Given the description of an element on the screen output the (x, y) to click on. 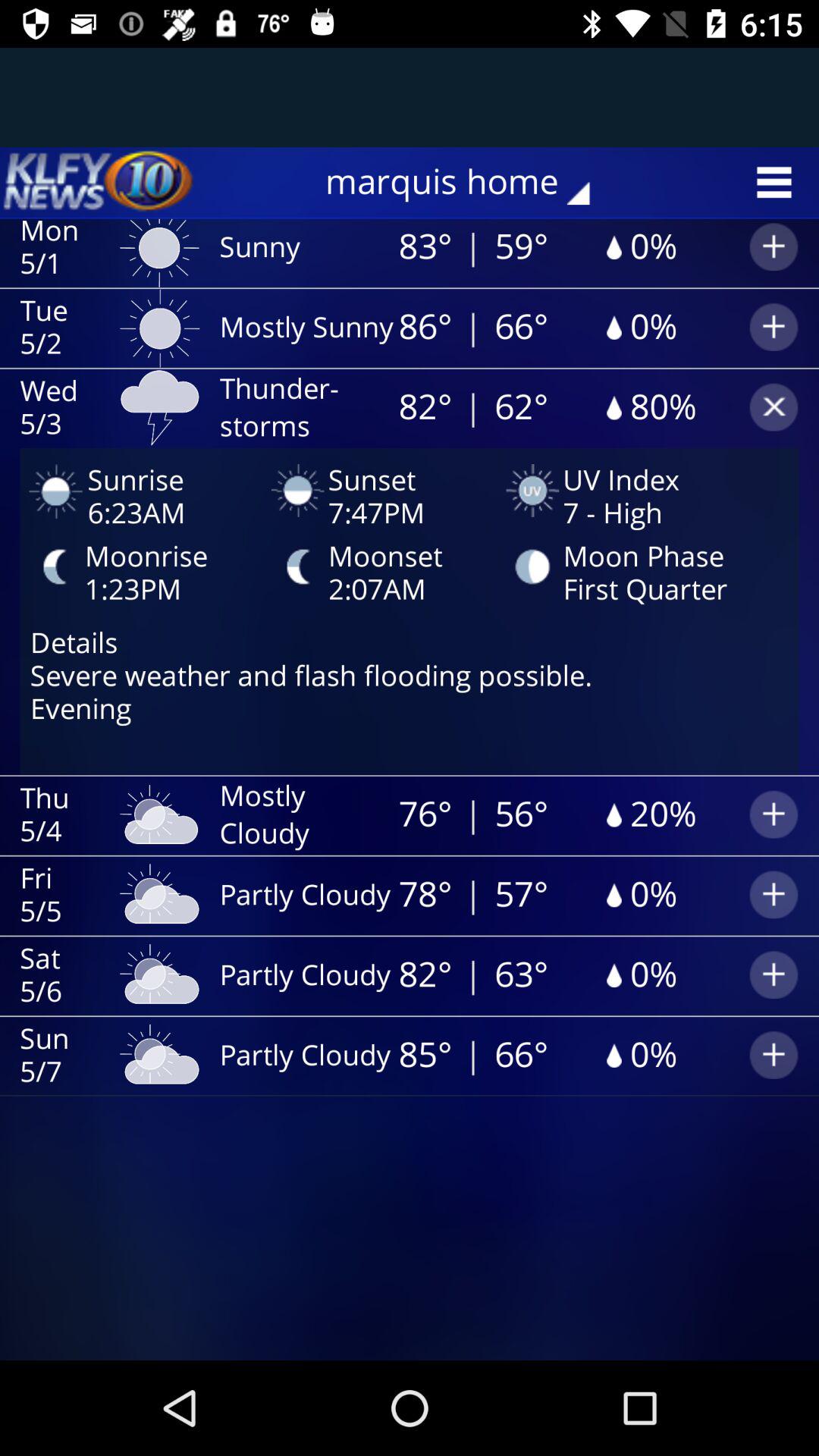
press the marquis home item (468, 182)
